Given the description of an element on the screen output the (x, y) to click on. 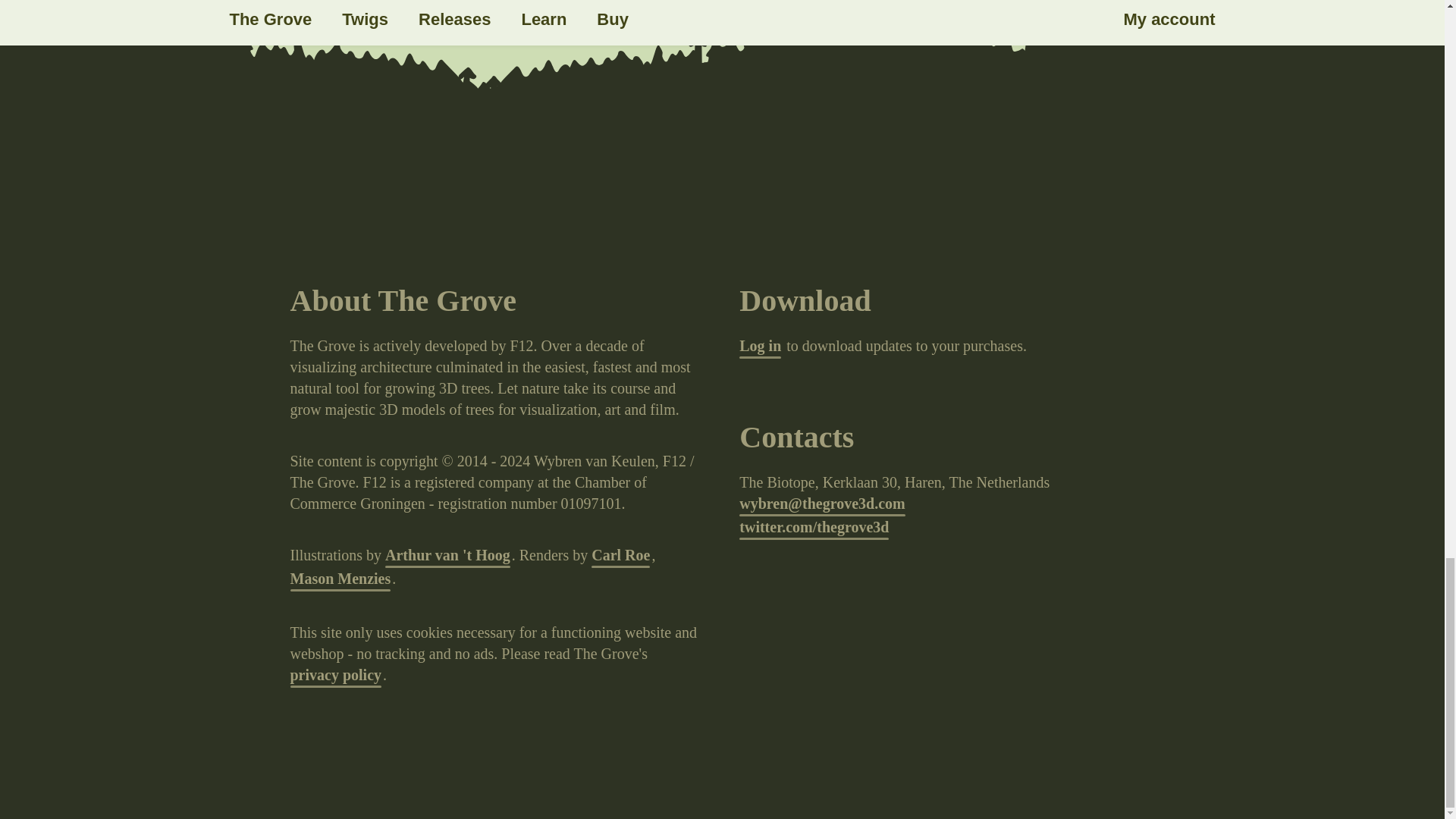
privacy policy (335, 675)
Mason Menzies (339, 579)
Log in (759, 346)
Carl Roe (620, 556)
Arthur van 't Hoog (448, 556)
